Given the description of an element on the screen output the (x, y) to click on. 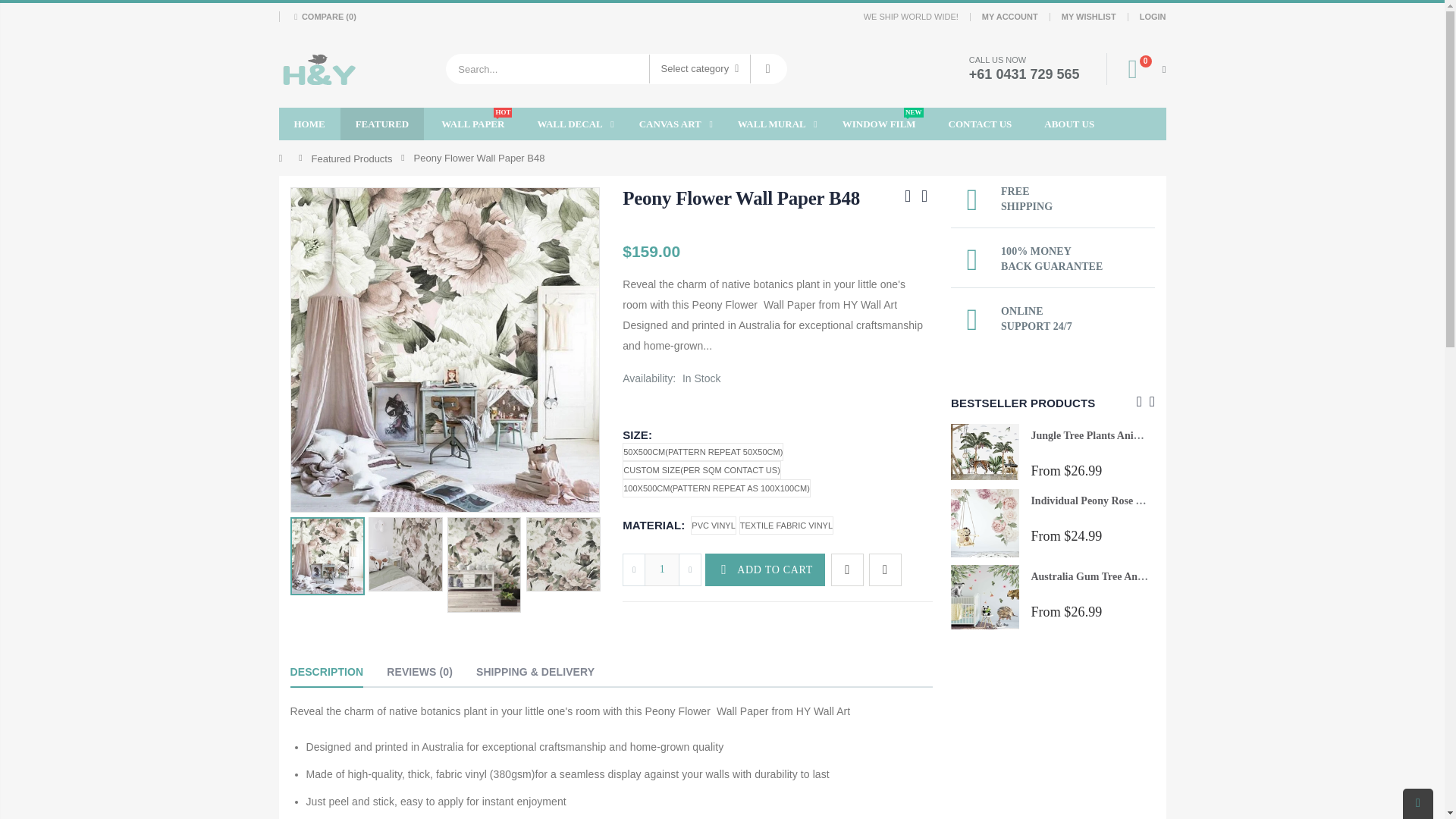
Jungle Tree Plants Animal Wall Stickers (1121, 435)
0 (1140, 68)
Birds On Wire Wall Sticker Vinyl Decal (908, 574)
Add to wishlist (847, 569)
Select category (700, 68)
Next Product (924, 195)
MY WISHLIST (1088, 15)
LOGIN (1153, 15)
Rose Peach Flower Nursery Wall Sticker (911, 509)
